Given the description of an element on the screen output the (x, y) to click on. 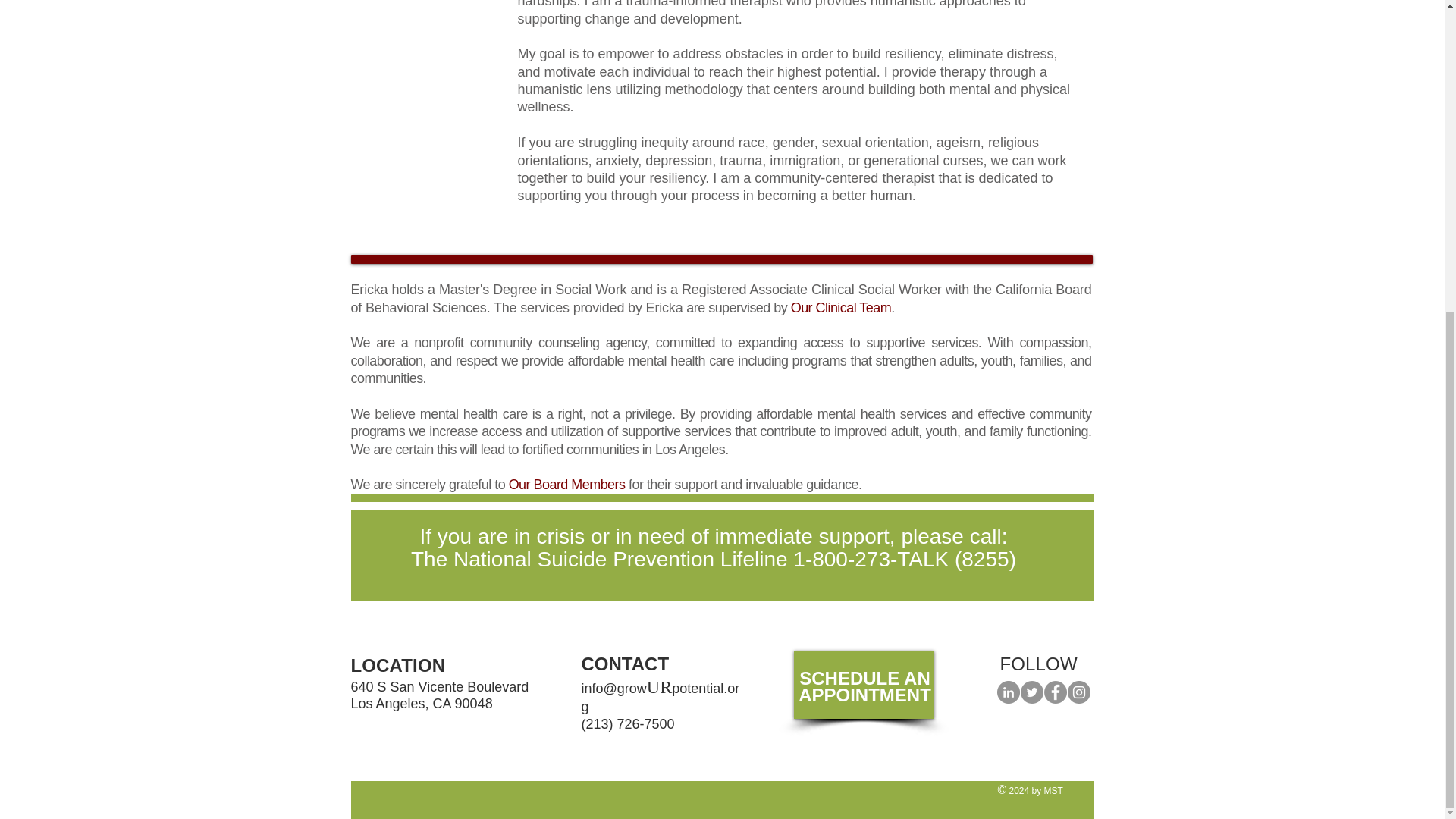
Our Clinical Team (840, 307)
